Given the description of an element on the screen output the (x, y) to click on. 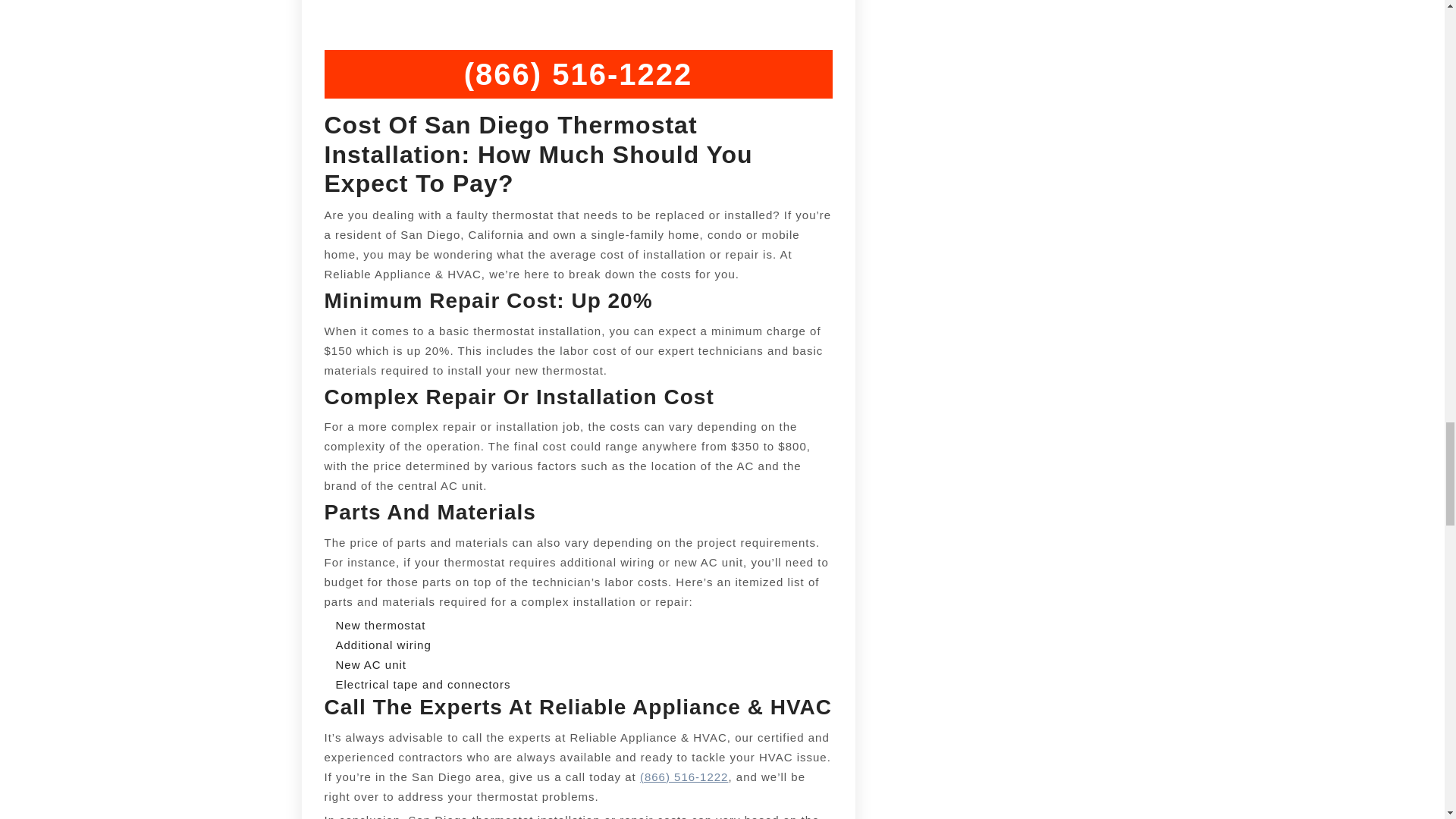
Thermostat Installation in San Diego (684, 776)
